Given the description of an element on the screen output the (x, y) to click on. 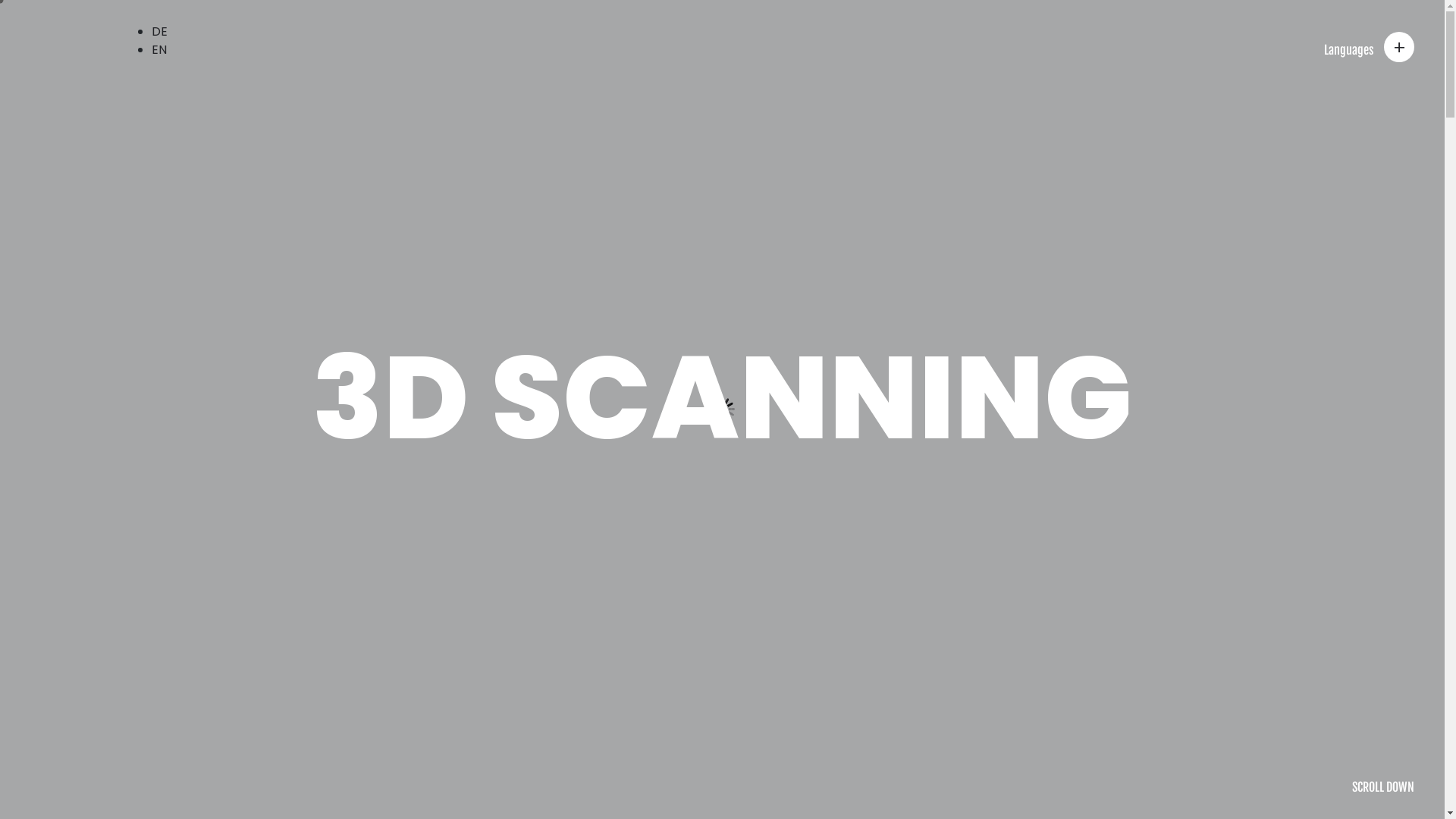
EN Element type: text (158, 49)
DE Element type: text (159, 31)
SCROLL DOWN Element type: text (1383, 786)
